Given the description of an element on the screen output the (x, y) to click on. 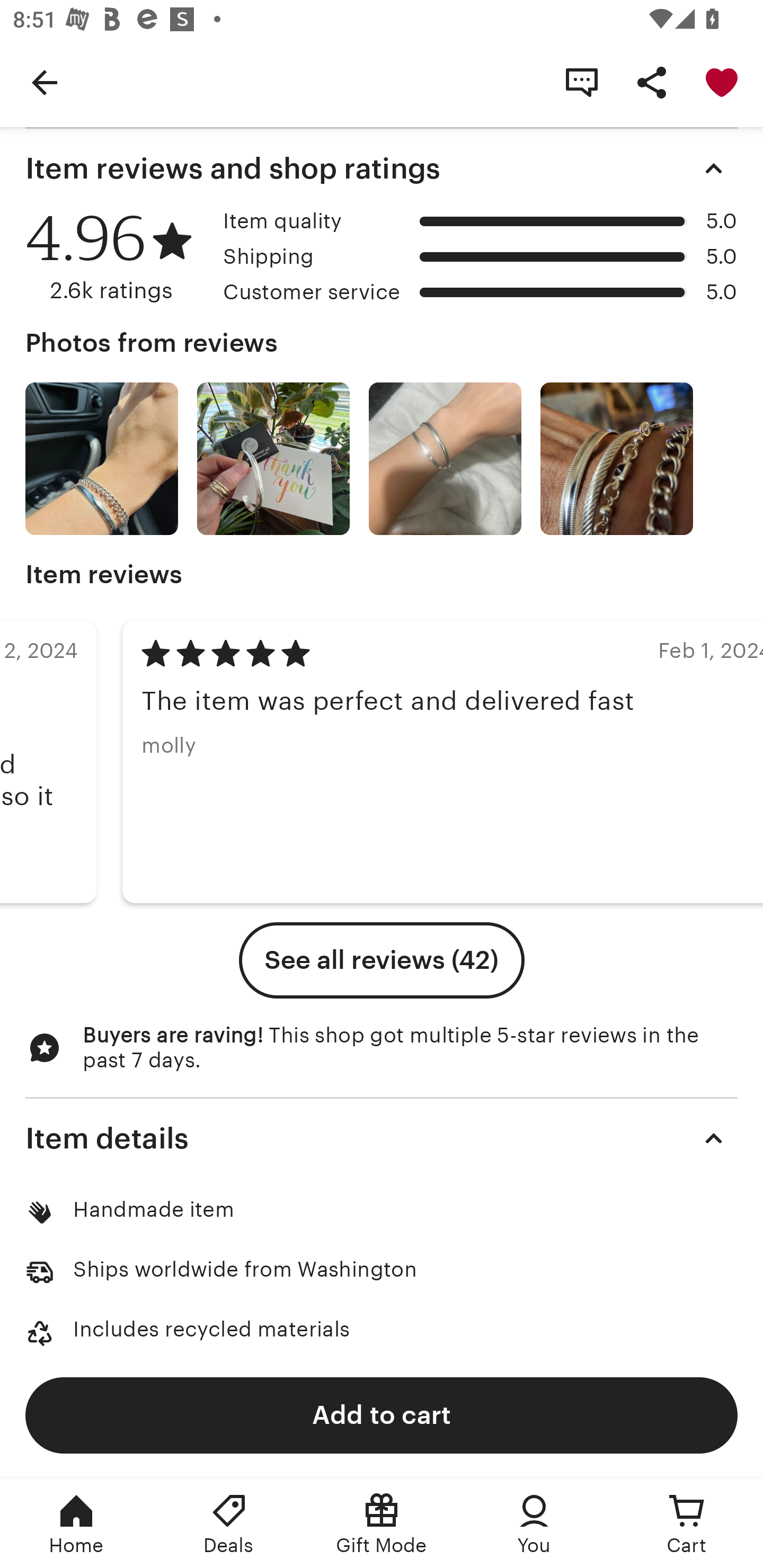
Navigate up (44, 81)
Contact shop (581, 81)
Share (651, 81)
Item reviews and shop ratings (381, 168)
4.96 2.6k ratings (117, 257)
Photo from review (101, 458)
Photo from review (272, 458)
Photo from review (444, 458)
Photo from review (616, 458)
See all reviews (42) (381, 959)
Item details (381, 1138)
Add to cart (381, 1414)
Deals (228, 1523)
Gift Mode (381, 1523)
You (533, 1523)
Cart (686, 1523)
